Given the description of an element on the screen output the (x, y) to click on. 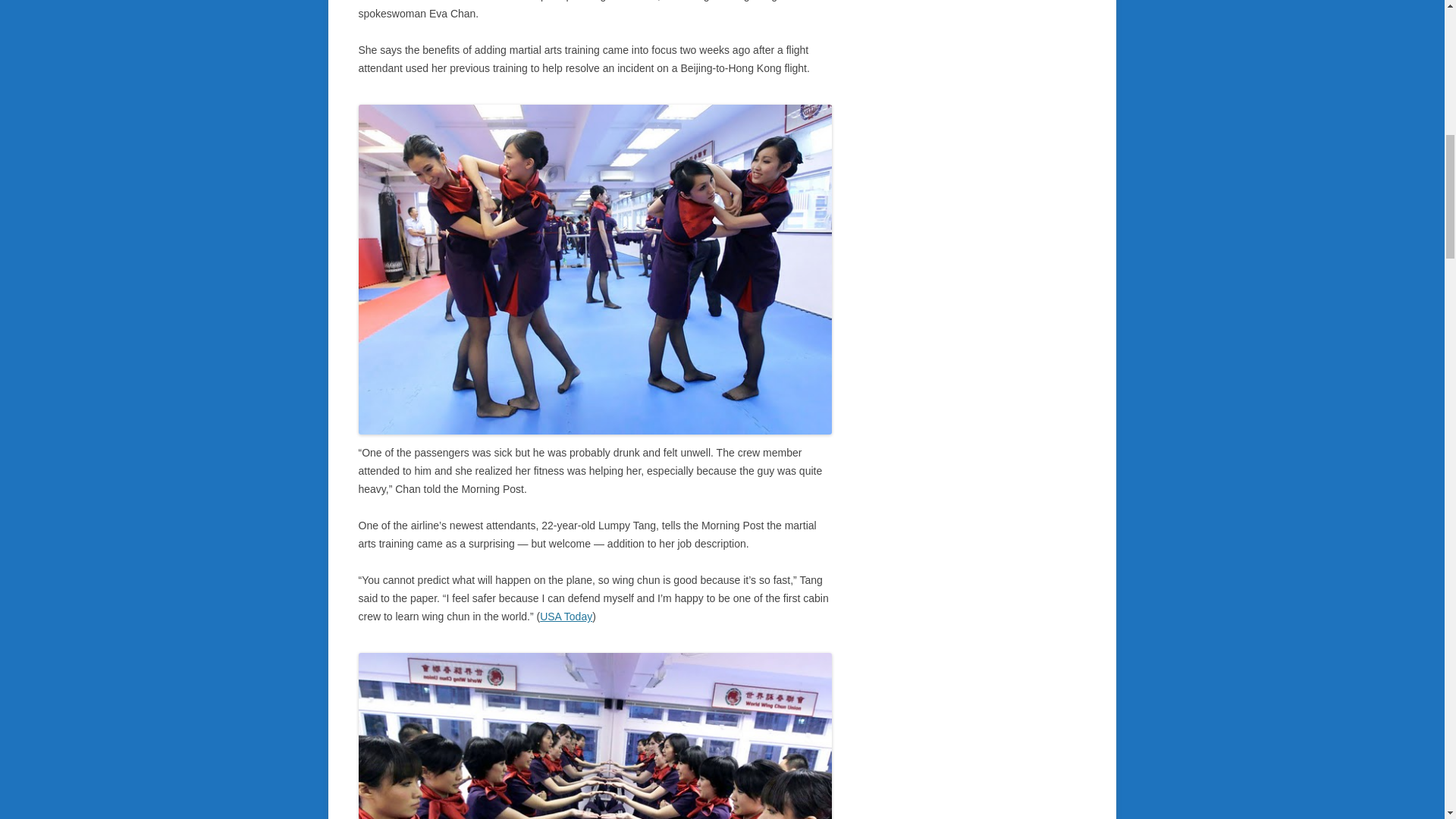
Flight Attendants Close Tan Sao (594, 735)
USA Today (566, 616)
